Given the description of an element on the screen output the (x, y) to click on. 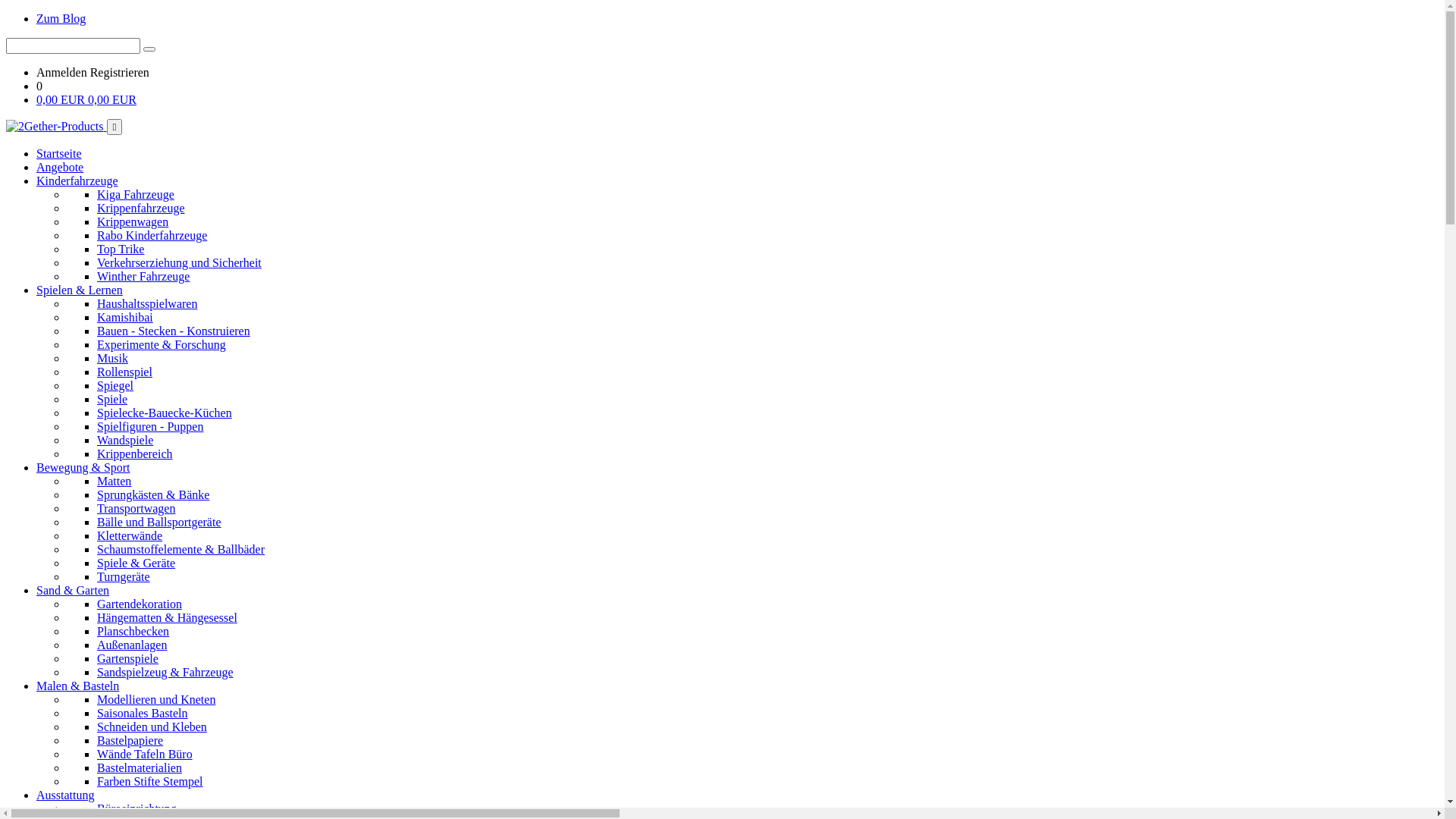
Rollenspiel Element type: text (124, 371)
Spielfiguren - Puppen Element type: text (150, 426)
Kiga Fahrzeuge Element type: text (135, 194)
Bauen - Stecken - Konstruieren Element type: text (173, 330)
Malen & Basteln Element type: text (77, 685)
Krippenwagen Element type: text (132, 221)
Saisonales Basteln Element type: text (142, 712)
Farben Stifte Stempel Element type: text (150, 781)
Gartendekoration Element type: text (139, 603)
Kinderfahrzeuge Element type: text (77, 180)
Haushaltsspielwaren Element type: text (147, 303)
Zum Blog Element type: text (60, 18)
Ausstattung Element type: text (65, 794)
Musik Element type: text (112, 357)
Planschbecken Element type: text (133, 630)
Krippenbereich Element type: text (134, 453)
Spiele Element type: text (112, 398)
Modellieren und Kneten Element type: text (156, 699)
Schneiden und Kleben Element type: text (152, 726)
Experimente & Forschung Element type: text (161, 344)
Gartenspiele Element type: text (127, 658)
Wandspiele Element type: text (125, 439)
Bastelpapiere Element type: text (130, 740)
Krippenfahrzeuge Element type: text (141, 207)
Spielen & Lernen Element type: text (79, 289)
Spiegel Element type: text (115, 385)
Bewegung & Sport Element type: text (83, 467)
0 Element type: text (39, 85)
Rabo Kinderfahrzeuge Element type: text (152, 235)
Startseite Element type: text (58, 153)
Top Trike Element type: text (120, 248)
Angebote Element type: text (59, 166)
Anmelden Element type: text (63, 71)
Matten Element type: text (114, 480)
Bastelmaterialien Element type: text (139, 767)
Registrieren Element type: text (119, 71)
Kamishibai Element type: text (125, 316)
Winther Fahrzeuge Element type: text (143, 275)
Verkehrserziehung und Sicherheit Element type: text (179, 262)
Sandspielzeug & Fahrzeuge Element type: text (165, 671)
0,00 EUR 0,00 EUR Element type: text (86, 99)
Transportwagen Element type: text (136, 508)
Sand & Garten Element type: text (72, 589)
